Given the description of an element on the screen output the (x, y) to click on. 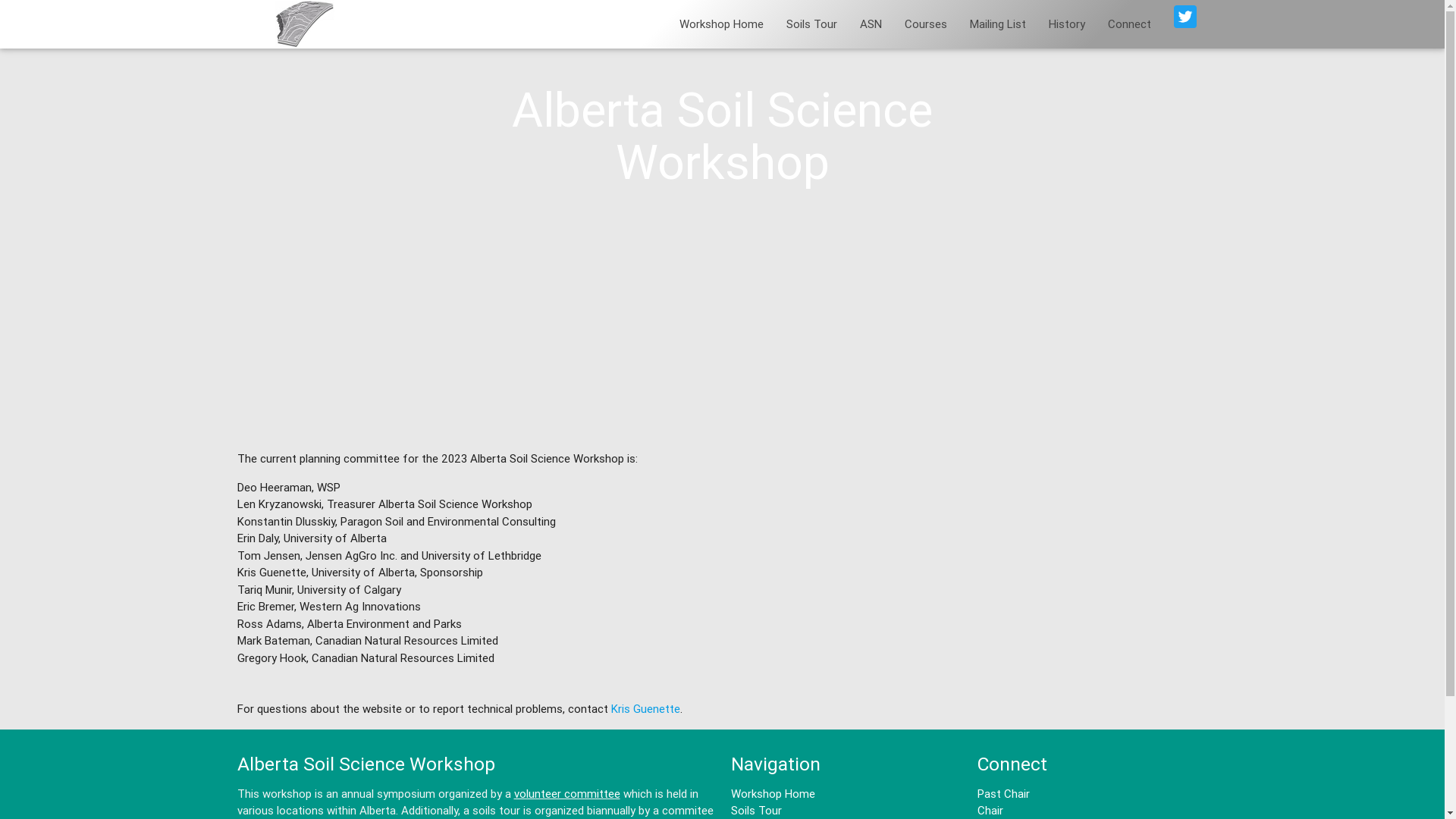
Courses Element type: text (925, 24)
volunteer committee Element type: text (567, 793)
Past Chair Element type: text (1003, 793)
Workshop Home Element type: text (773, 793)
ASN Element type: text (869, 24)
Workshop Home Element type: text (720, 24)
Soils Tour Element type: text (756, 810)
History Element type: text (1066, 24)
Connect Element type: text (1129, 24)
Mailing List Element type: text (997, 24)
Soils Tour Element type: text (811, 24)
Kris Guenette Element type: text (645, 708)
Chair Element type: text (990, 810)
